Given the description of an element on the screen output the (x, y) to click on. 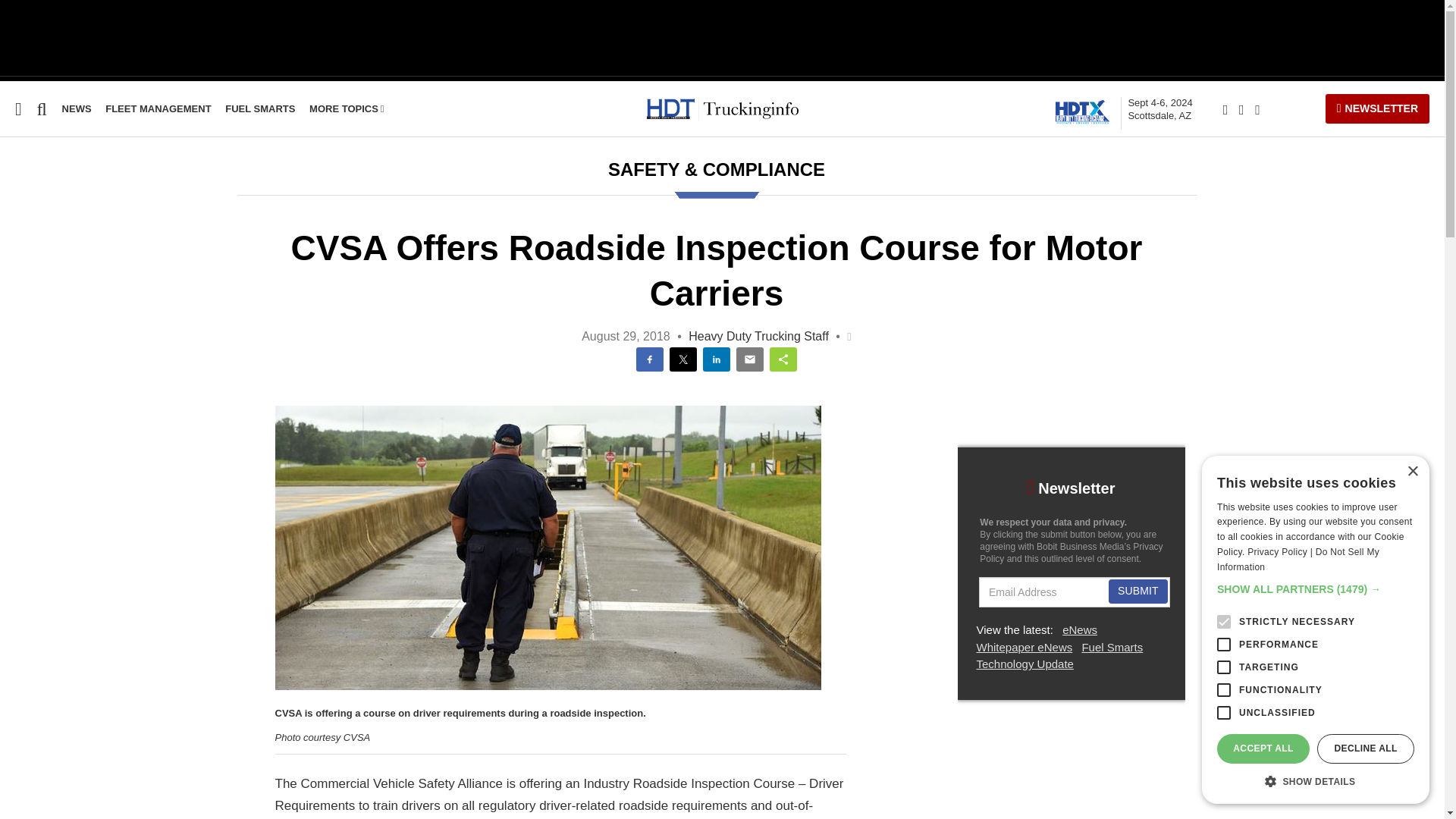
Equipment (31, 236)
Home (16, 206)
FLEET MANAGEMENT (157, 108)
Equipment (31, 236)
Operations (32, 351)
NEWS (76, 108)
News (76, 108)
Fuel Smarts (34, 323)
Fuel Smarts (260, 108)
Heavy Duty Trucking Exchange (1084, 111)
FUEL SMARTS (260, 108)
Safety (17, 264)
Drivers (20, 293)
Fleet Management (157, 108)
Home (16, 206)
